Given the description of an element on the screen output the (x, y) to click on. 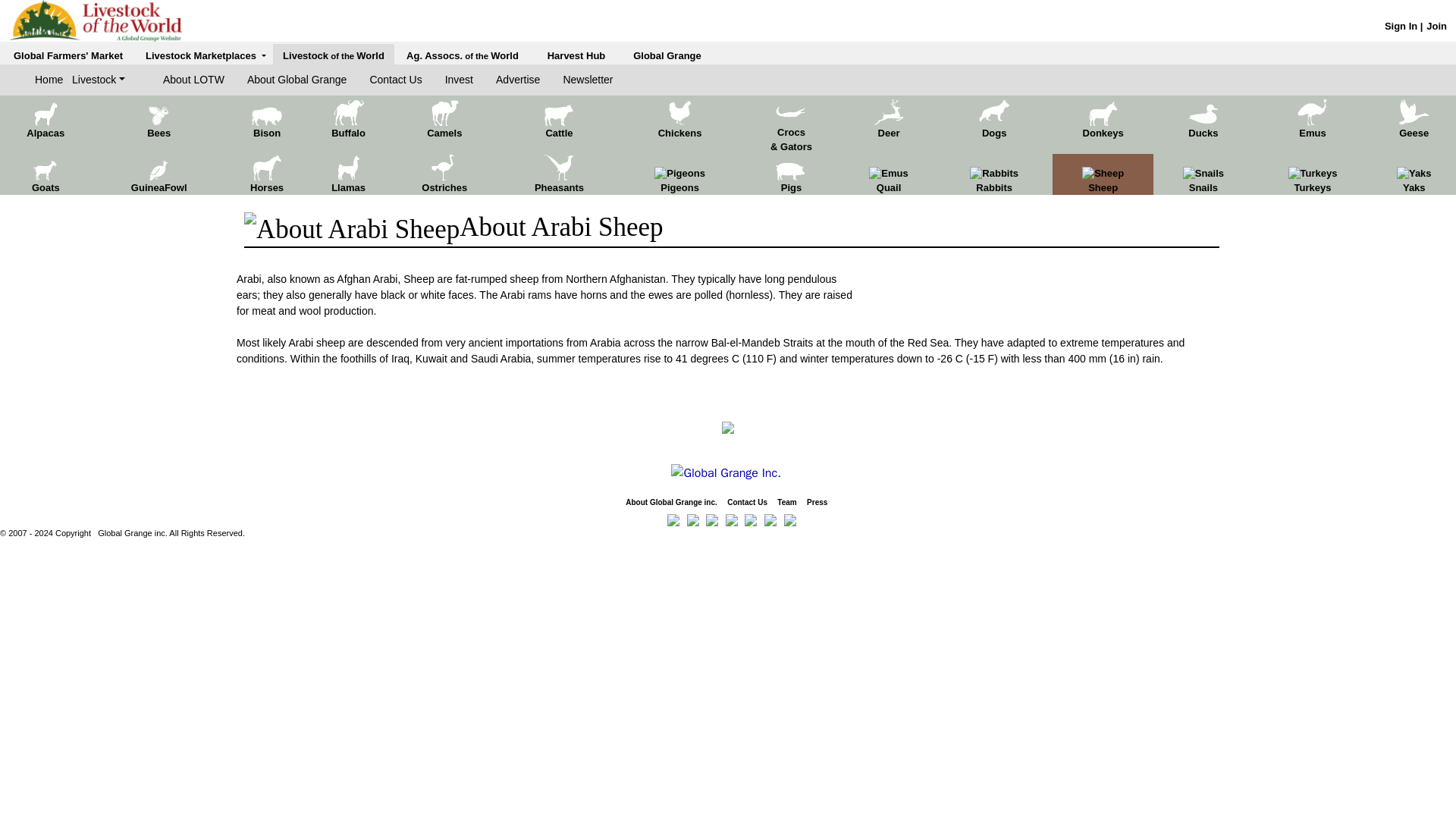
Home    (52, 79)
Livestock of the World (333, 55)
Global Grange (667, 55)
Global Farmers' Market (67, 55)
Harvest Hub (576, 55)
Livestock Marketplaces (205, 55)
Ag. Assocs. of the World (462, 55)
Join (1436, 25)
Livestock (98, 79)
